Given the description of an element on the screen output the (x, y) to click on. 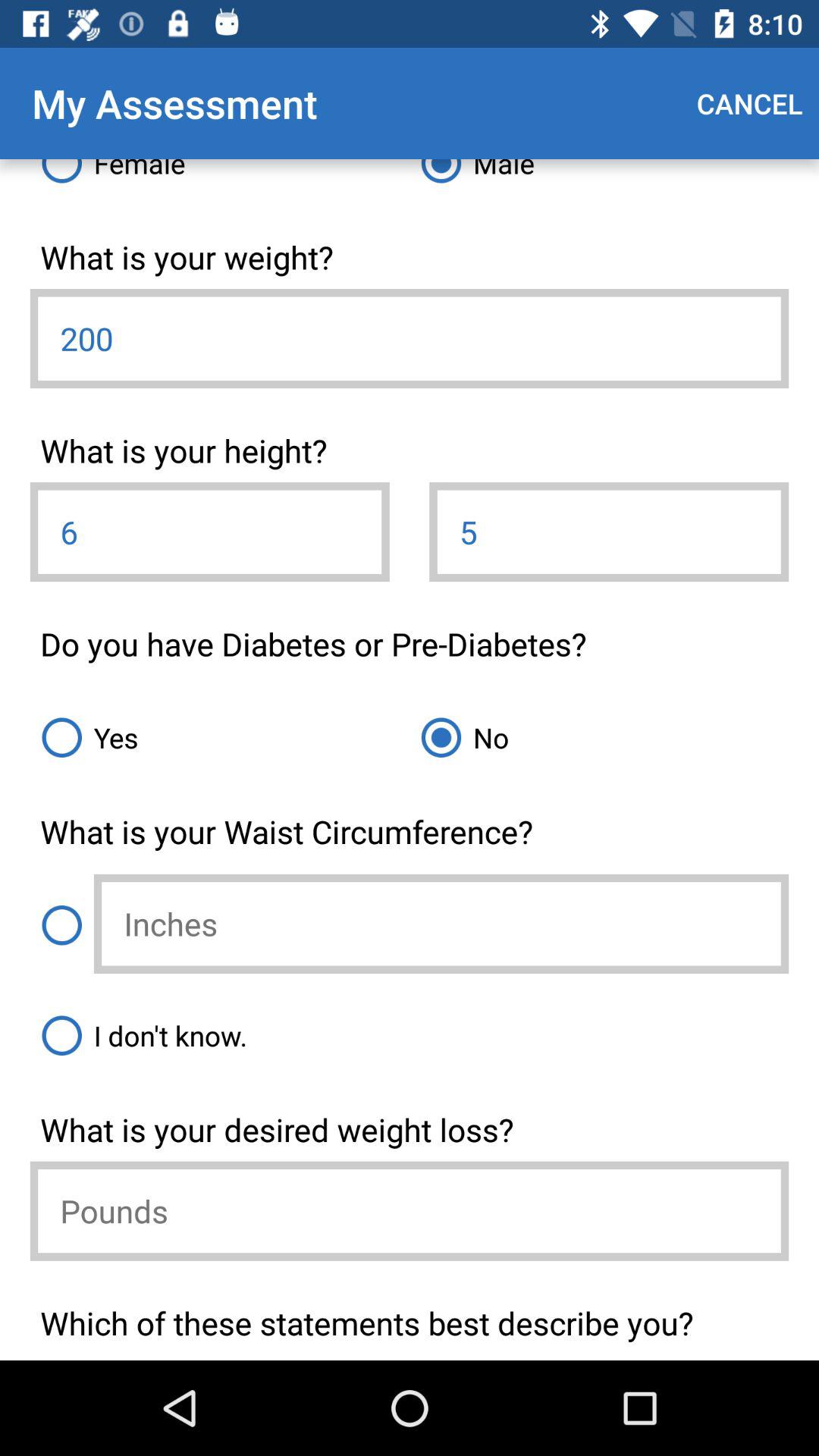
open the item below the what is your item (608, 531)
